Given the description of an element on the screen output the (x, y) to click on. 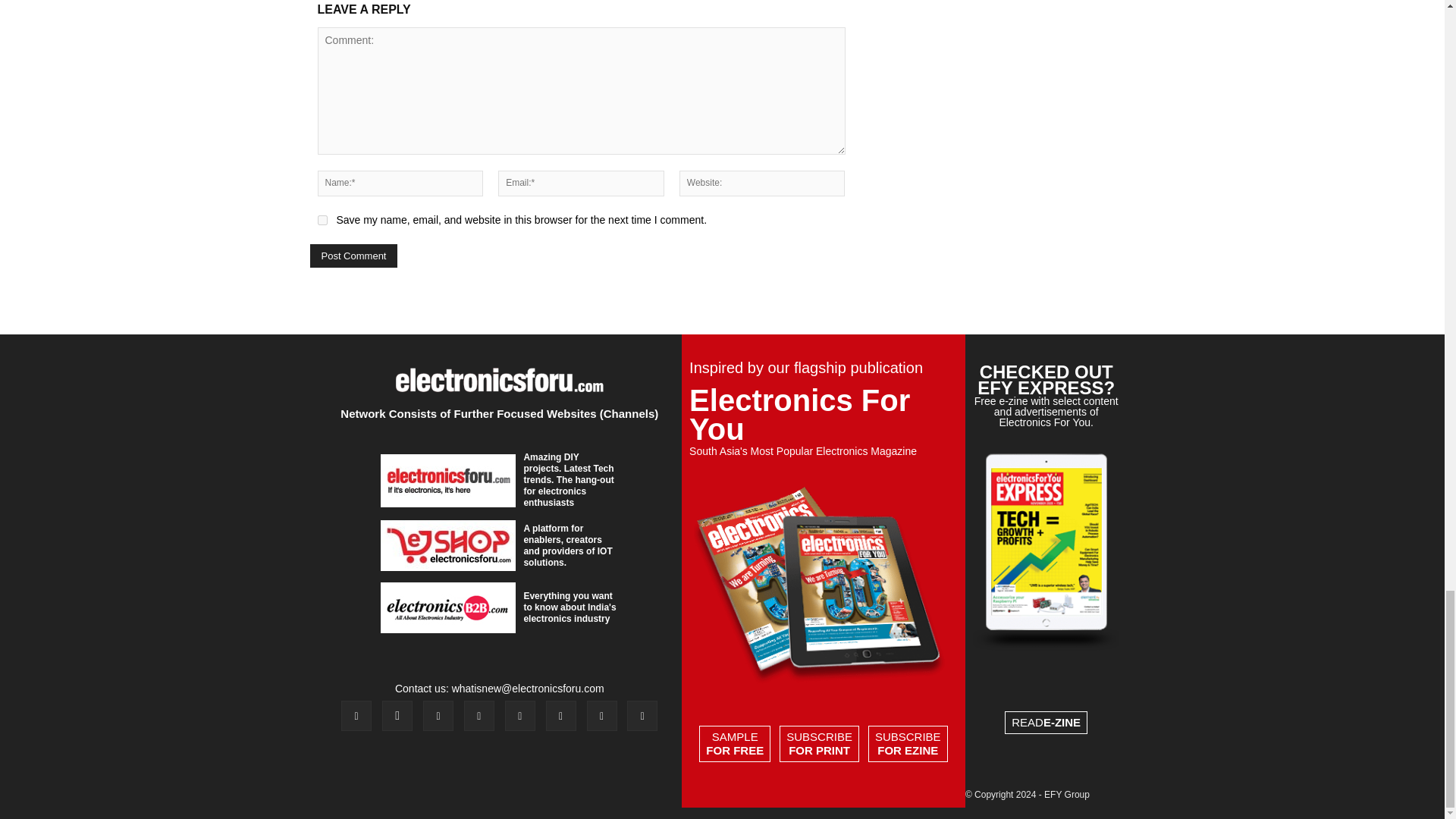
yes (321, 220)
Post Comment (352, 255)
